Given the description of an element on the screen output the (x, y) to click on. 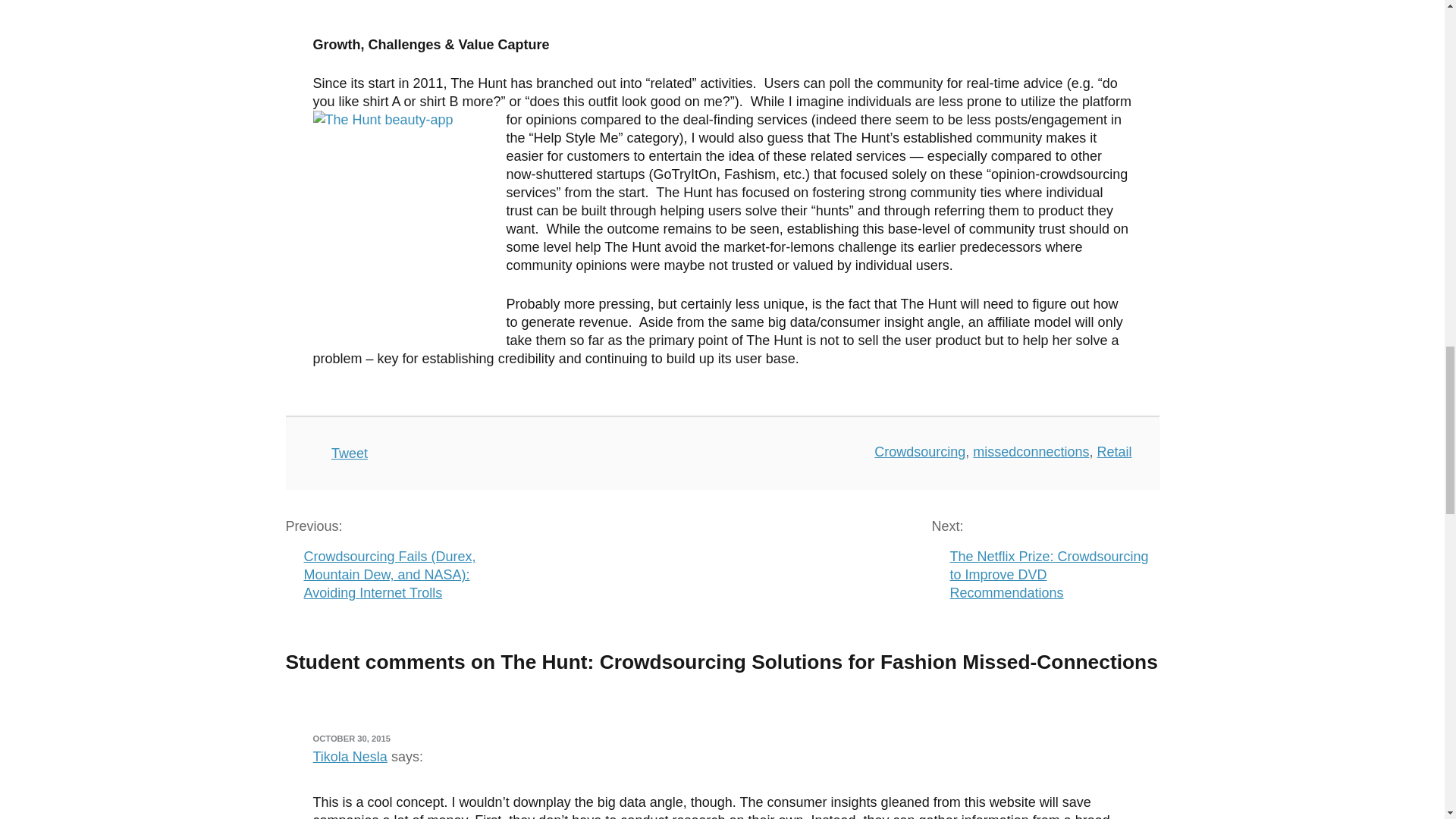
Tikola Nesla (350, 756)
Retail (1113, 451)
Tweet (349, 453)
missedconnections (1030, 451)
Crowdsourcing (920, 451)
